Given the description of an element on the screen output the (x, y) to click on. 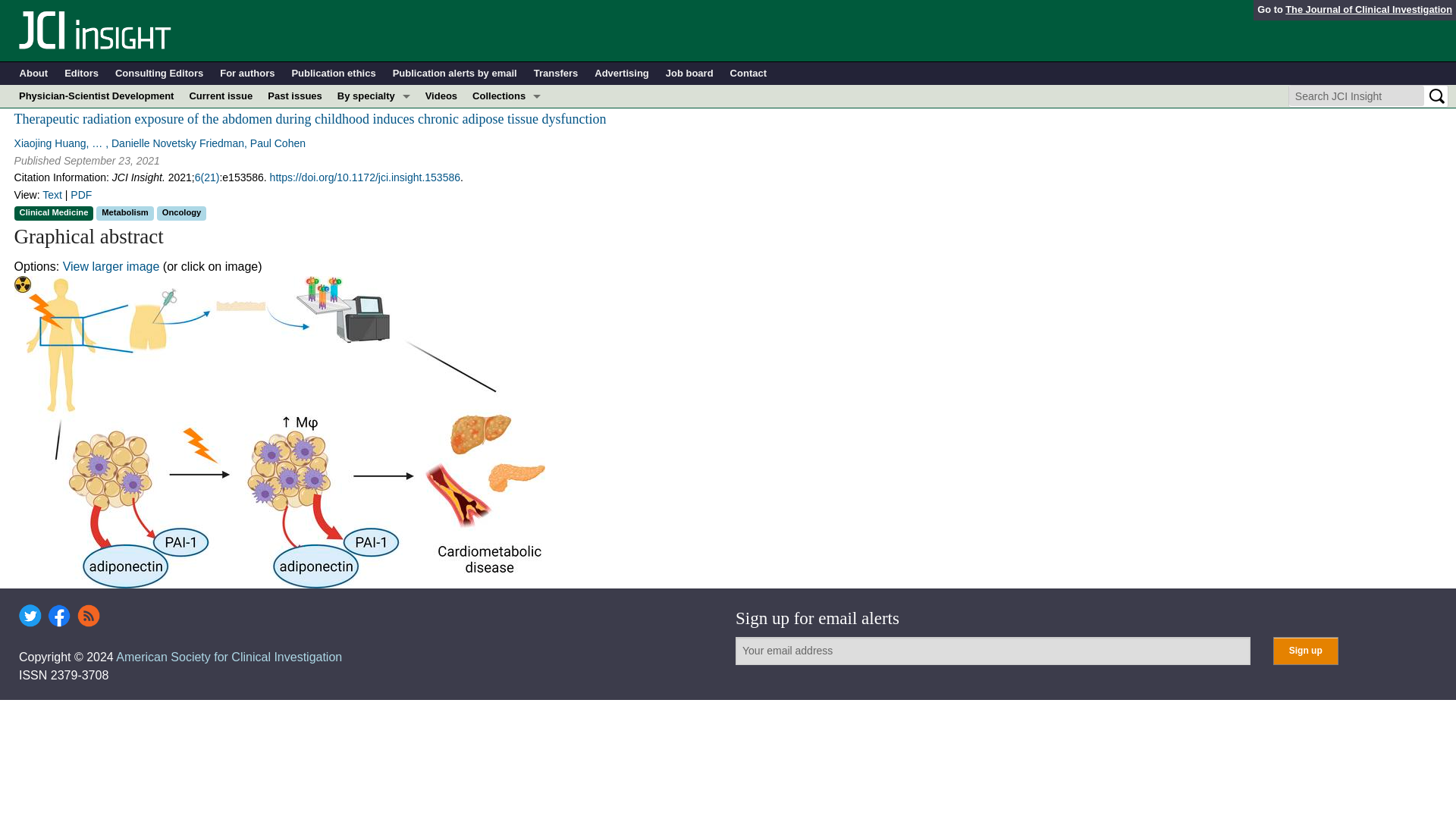
Reviews (506, 255)
About (34, 73)
By specialty (373, 96)
Contact (748, 73)
Top read articles (506, 277)
Physician-Scientist Development (95, 96)
Immunology (373, 164)
Facebook (58, 615)
Editors (81, 73)
The Journal of Clinical Investigation (1368, 9)
